Given the description of an element on the screen output the (x, y) to click on. 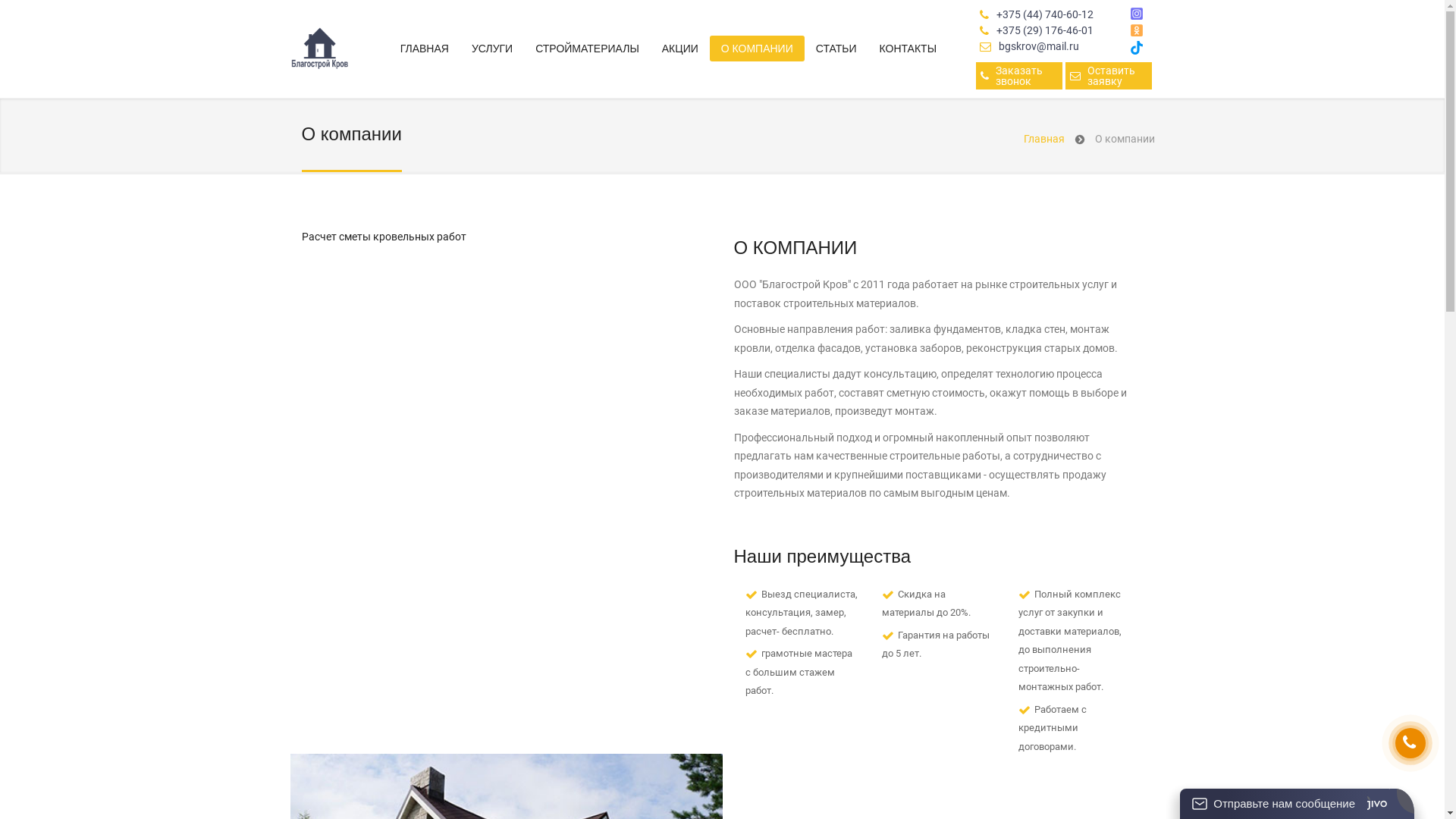
+375 (44) 740-60-12 Element type: text (1044, 14)
+375 (29) 176-46-01 Element type: text (1044, 30)
bgskrov@mail.ru Element type: text (1038, 46)
